Given the description of an element on the screen output the (x, y) to click on. 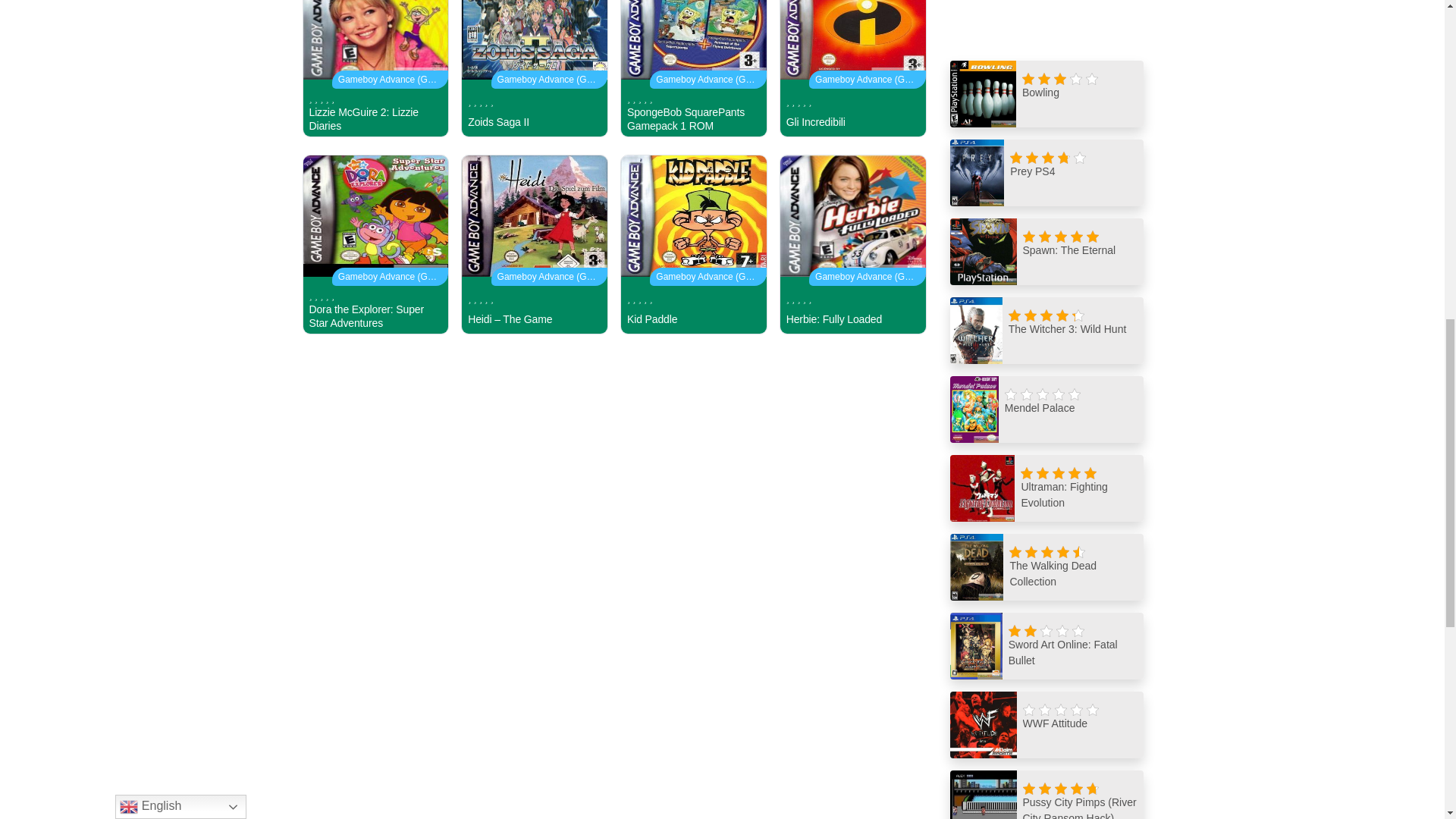
Gli Incredibili (852, 68)
SpongeBob SquarePants Gamepack 1 ROM (693, 68)
Lizzie McGuire 2: Lizzie Diaries (374, 68)
Bowling (1045, 93)
Zoids Saga II (534, 68)
